Given the description of an element on the screen output the (x, y) to click on. 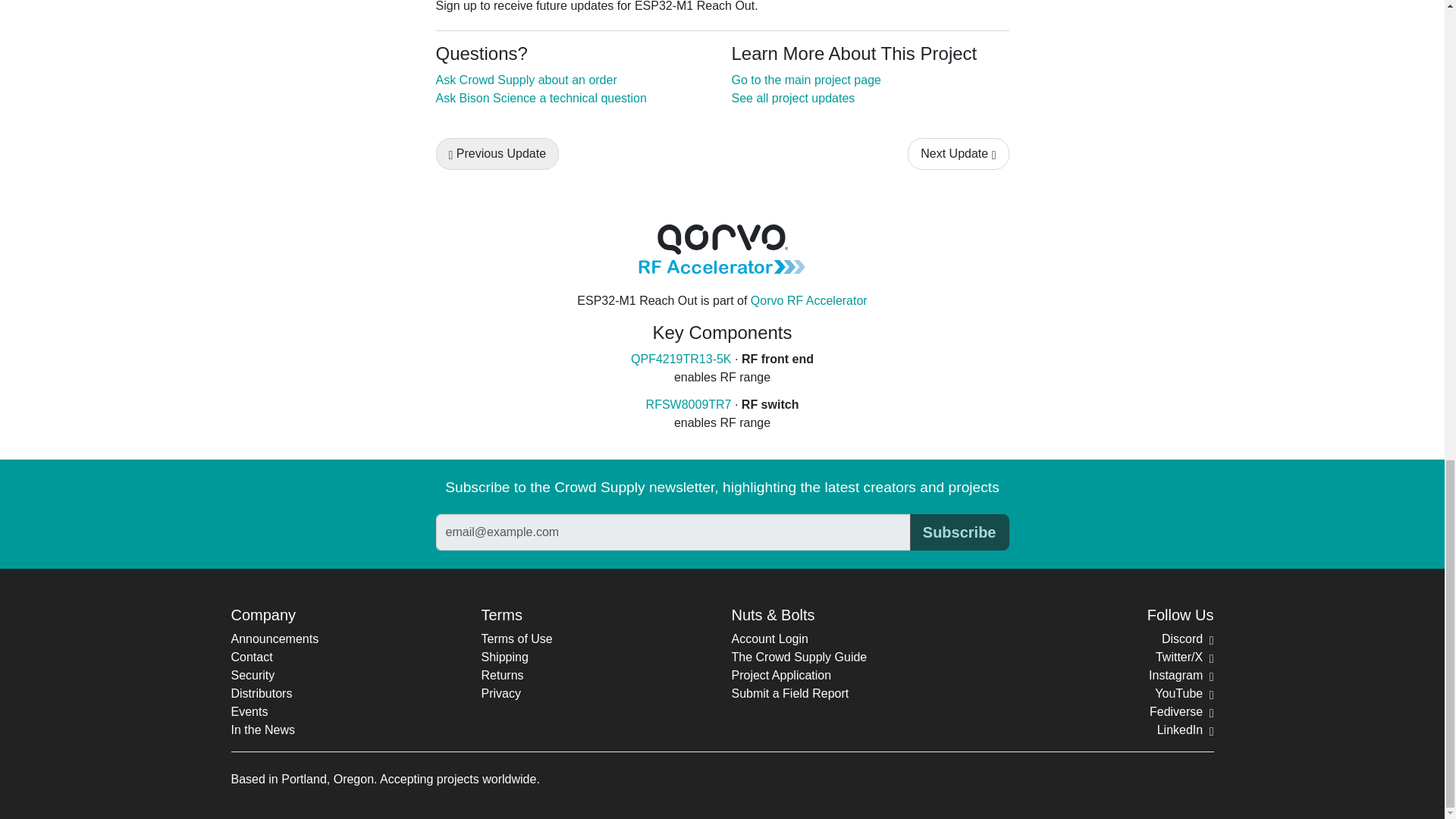
Next Update (958, 153)
RFSW8009TR7 (689, 404)
QPF4219TR13-5K (681, 358)
Account Login (769, 638)
Returns (501, 675)
Announcements (274, 638)
Project Application (780, 675)
In the News (262, 729)
The Crowd Supply Guide (798, 656)
Events (248, 711)
